Given the description of an element on the screen output the (x, y) to click on. 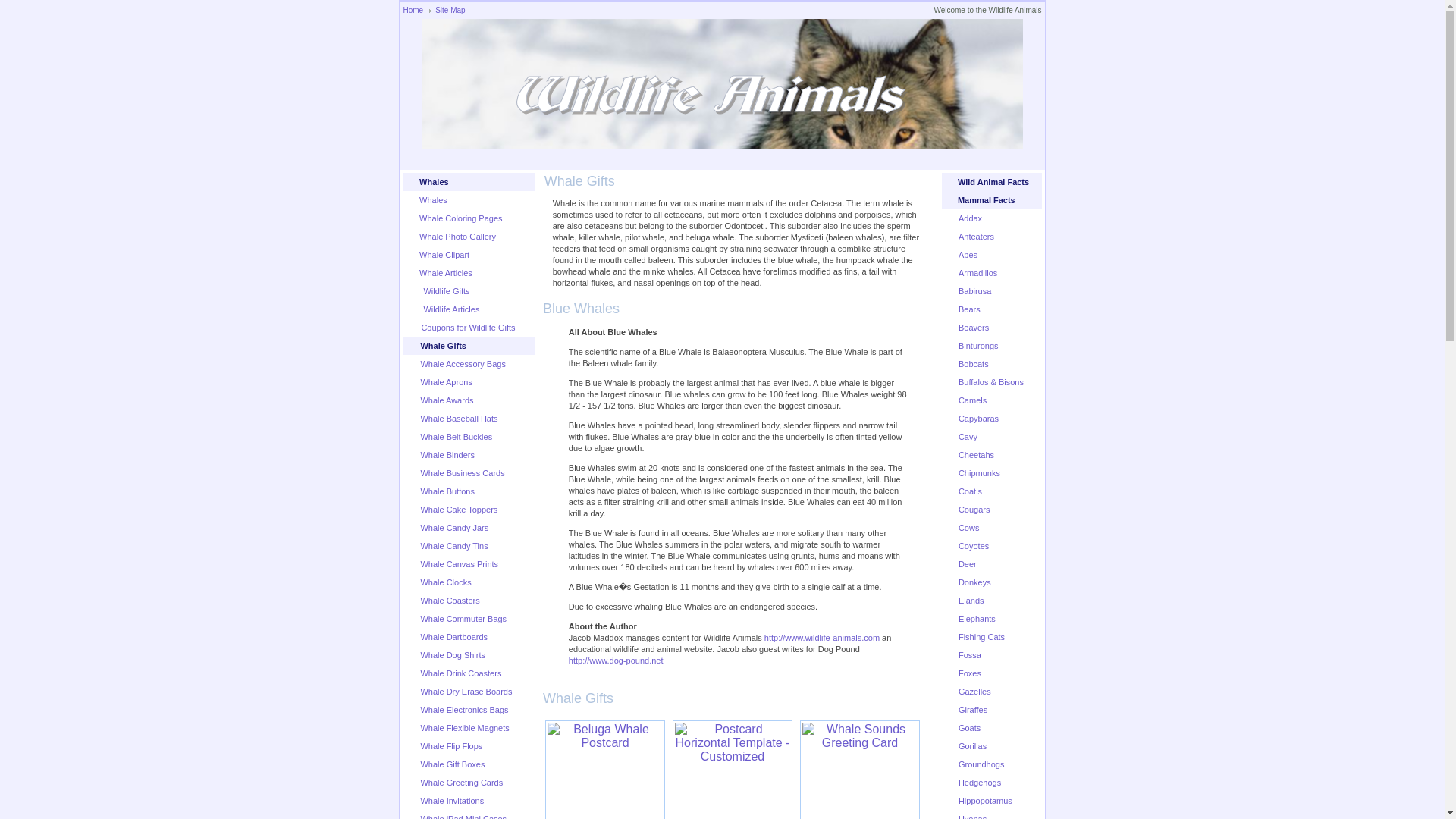
Home (413, 9)
Whale Invitations (451, 800)
Whale Business Cards (461, 472)
Whale Clipart (443, 254)
Whale Canvas Prints (458, 563)
Wildlife Articles (449, 308)
Whale Binders (447, 454)
Whale Accessory Bags (462, 363)
Whale Coasters (449, 600)
Wildlife Gifts (444, 290)
